Given the description of an element on the screen output the (x, y) to click on. 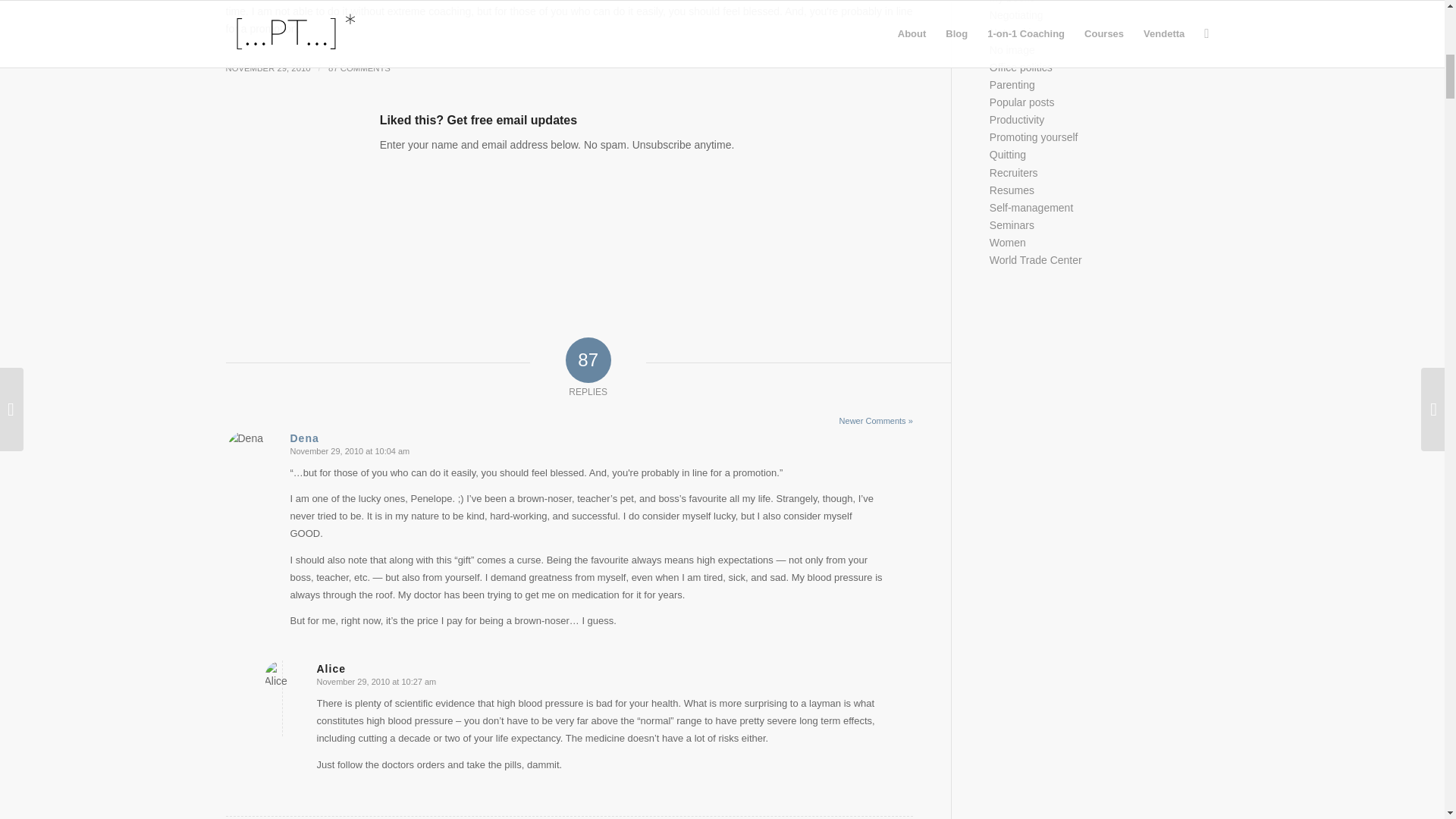
November 29, 2010 at 10:04 am (349, 450)
87 COMMENTS (359, 67)
Form 0 (569, 234)
November 29, 2010 at 10:27 am (376, 681)
Dena (303, 438)
